Given the description of an element on the screen output the (x, y) to click on. 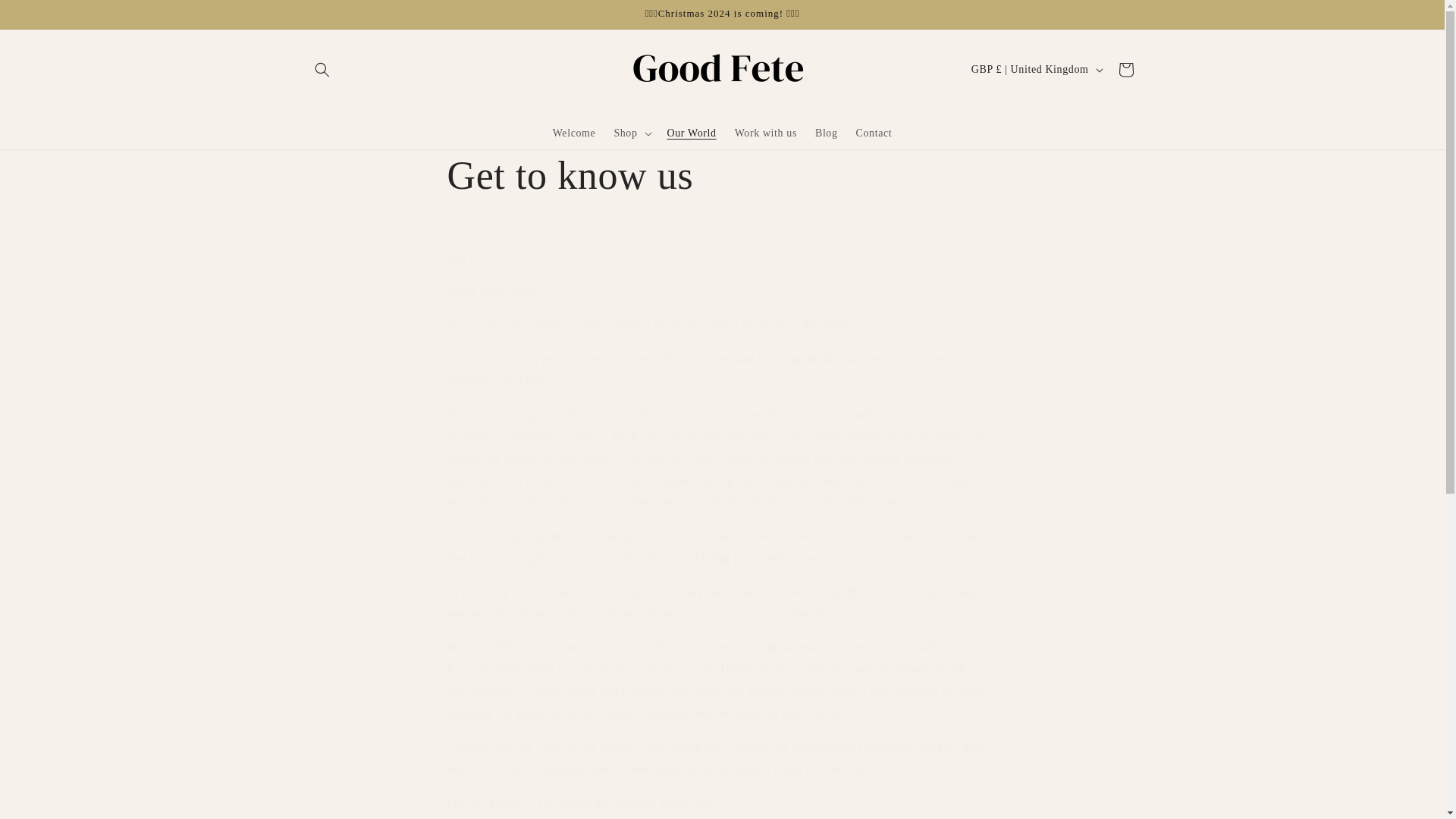
Work with us (765, 132)
Contact (874, 132)
Our World (691, 132)
Blog (826, 132)
Skip to content (45, 17)
Get to know us (721, 175)
Cart (1124, 69)
Welcome (574, 132)
